Given the description of an element on the screen output the (x, y) to click on. 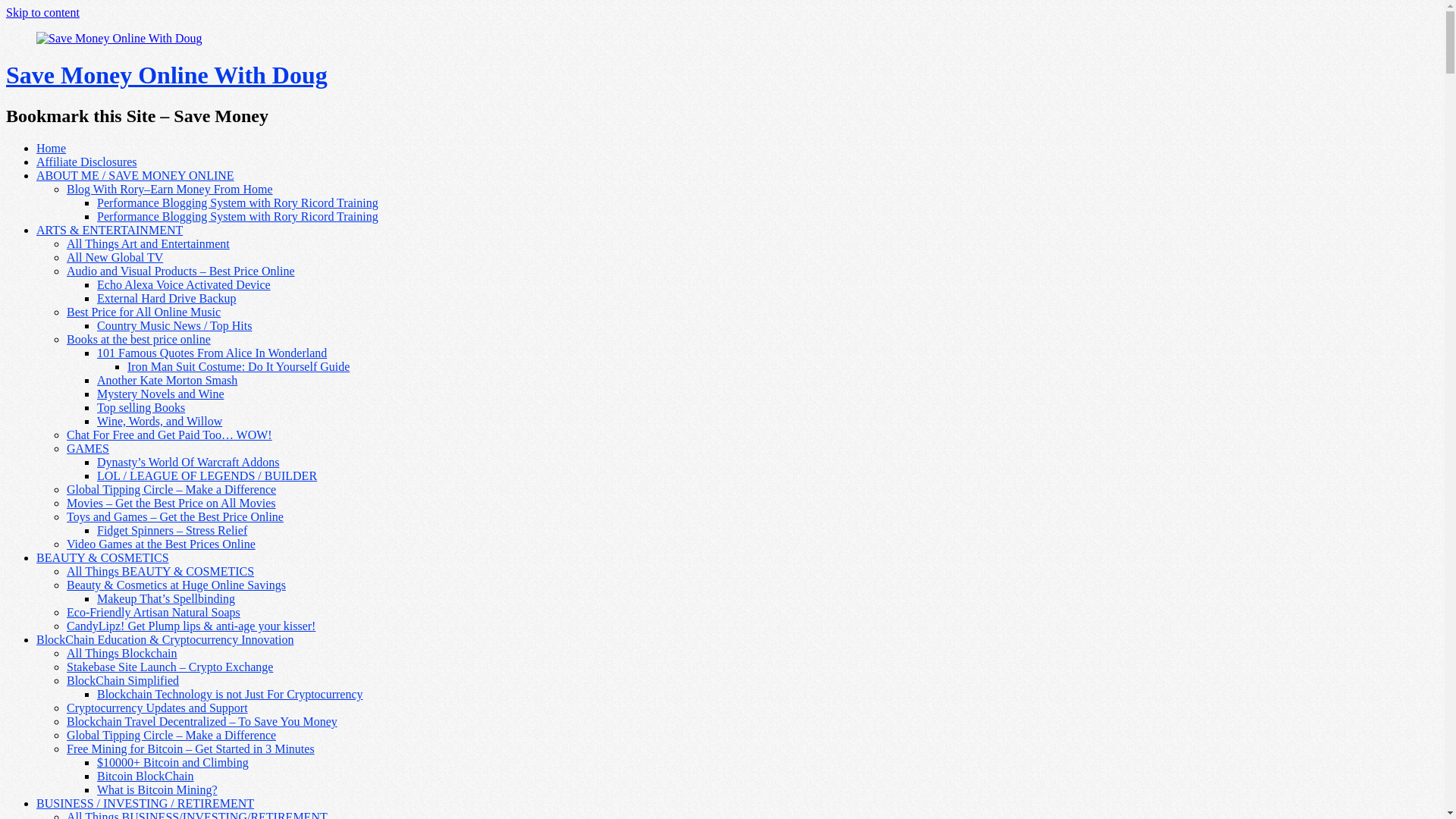
101 Famous Quotes From Alice In Wonderland Element type: text (211, 352)
Country Music News / Top Hits Element type: text (174, 325)
BEAUTY & COSMETICS Element type: text (102, 557)
Skip to content Element type: text (42, 12)
LOL / LEAGUE OF LEGENDS / BUILDER Element type: text (206, 475)
External Hard Drive Backup Element type: text (166, 297)
Bitcoin BlockChain Element type: text (145, 775)
Mystery Novels and Wine Element type: text (160, 393)
BlockChain Education & Cryptocurrency Innovation Element type: text (164, 639)
Home Element type: text (50, 147)
GAMES Element type: text (87, 448)
CandyLipz! Get Plump lips & anti-age your kisser! Element type: text (190, 625)
BUSINESS / INVESTING / RETIREMENT Element type: text (145, 803)
Affiliate Disclosures Element type: text (86, 161)
Blockchain Technology is not Just For Cryptocurrency Element type: text (230, 693)
BlockChain Simplified Element type: text (122, 680)
Save Money Online With Doug Element type: text (166, 74)
ARTS & ENTERTAINMENT Element type: text (109, 229)
All New Global TV Element type: text (114, 257)
Iron Man Suit Costume: Do It Yourself Guide Element type: text (238, 366)
Top selling Books Element type: text (141, 407)
Books at the best price online Element type: text (138, 338)
Beauty & Cosmetics at Huge Online Savings Element type: text (175, 584)
Echo Alexa Voice Activated Device Element type: text (183, 284)
All Things Blockchain Element type: text (121, 652)
Eco-Friendly Artisan Natural Soaps Element type: text (153, 611)
Video Games at the Best Prices Online Element type: text (160, 543)
Cryptocurrency Updates and Support Element type: text (156, 707)
All Things BEAUTY & COSMETICS Element type: text (160, 570)
Performance Blogging System with Rory Ricord Training Element type: text (237, 202)
What is Bitcoin Mining? Element type: text (157, 789)
ABOUT ME / SAVE MONEY ONLINE Element type: text (135, 175)
Best Price for All Online Music Element type: text (143, 311)
$10000+ Bitcoin and Climbing Element type: text (172, 762)
All Things Art and Entertainment Element type: text (147, 243)
Performance Blogging System with Rory Ricord Training Element type: text (237, 216)
Wine, Words, and Willow Element type: text (159, 420)
Another Kate Morton Smash Element type: text (167, 379)
